Given the description of an element on the screen output the (x, y) to click on. 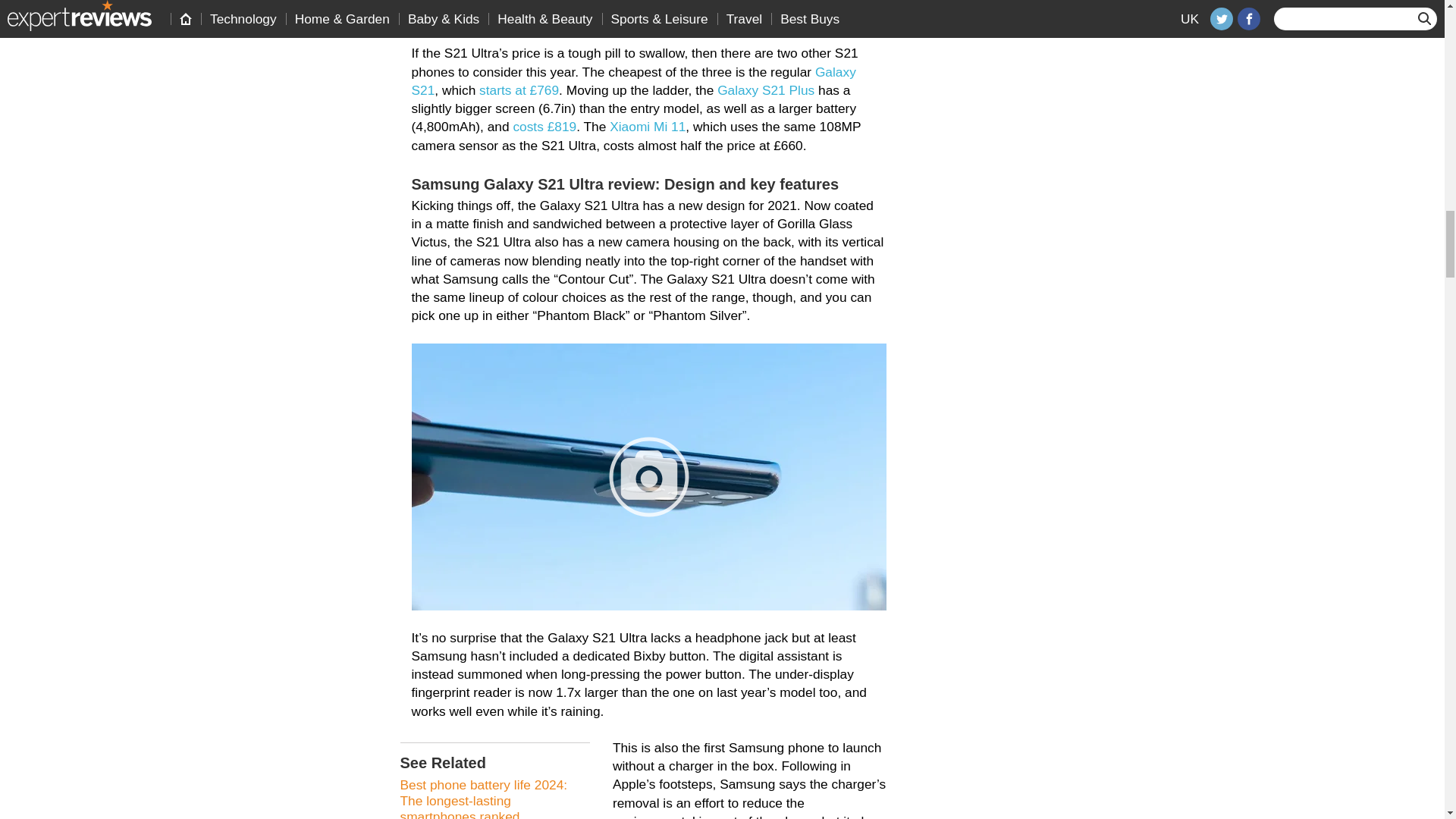
samsung galaxy s21 plus (765, 89)
xiaomi mi 11 (647, 126)
best smartphone (585, 16)
samsung galaxy s21 (633, 80)
